Given the description of an element on the screen output the (x, y) to click on. 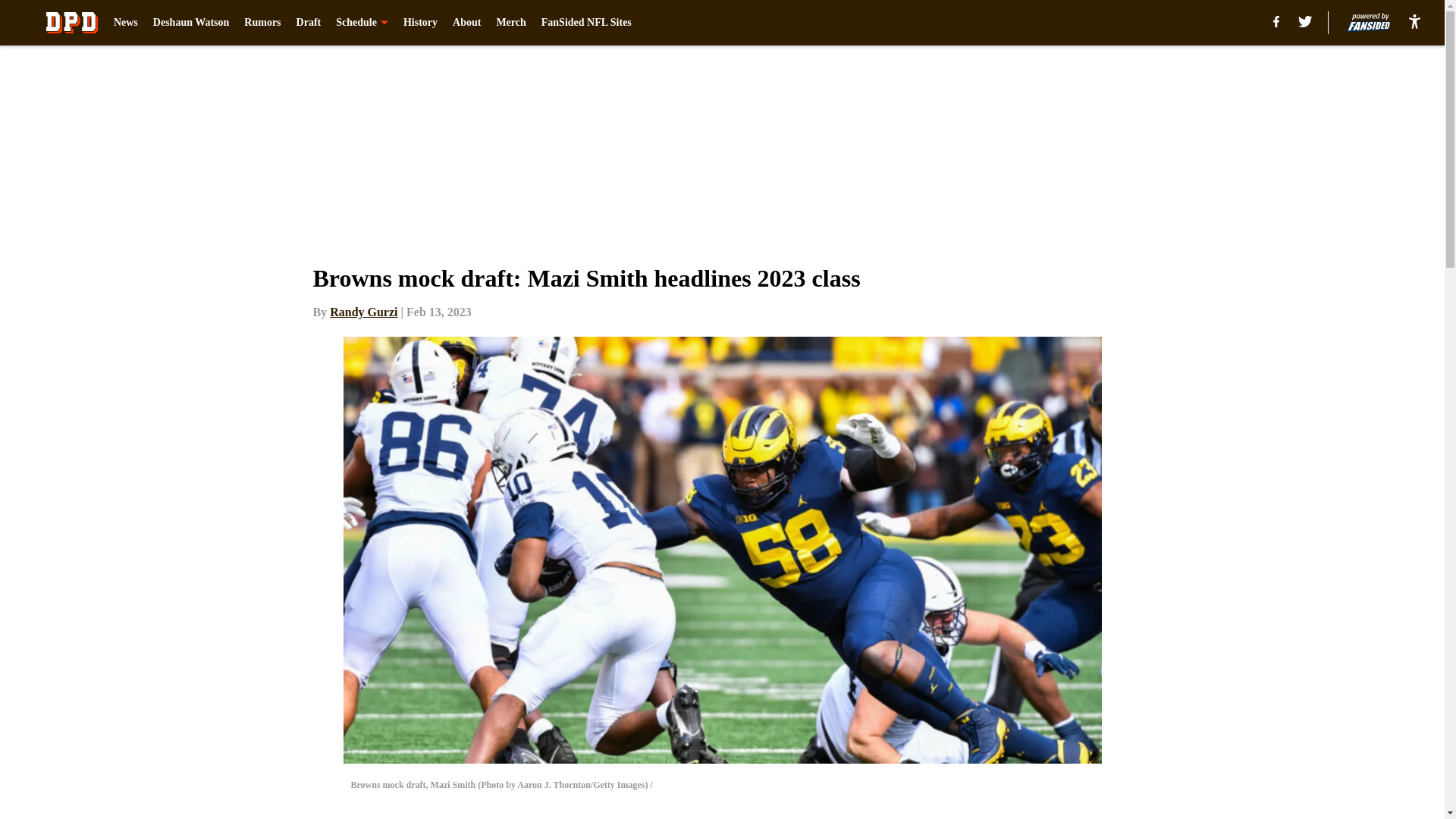
FanSided NFL Sites (586, 22)
News (125, 22)
Randy Gurzi (363, 311)
Rumors (262, 22)
Draft (309, 22)
About (466, 22)
Deshaun Watson (191, 22)
History (420, 22)
Merch (510, 22)
